Given the description of an element on the screen output the (x, y) to click on. 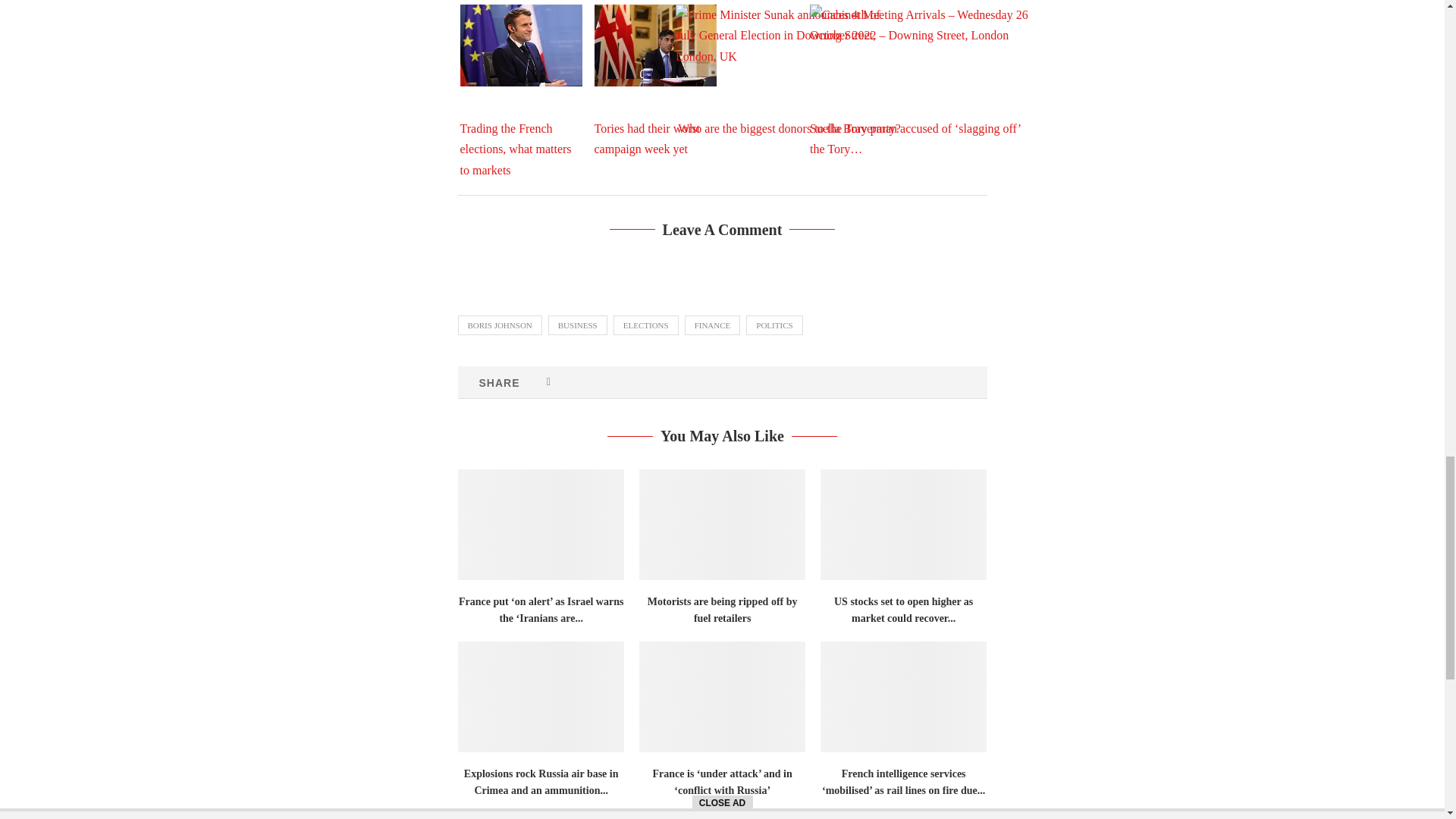
Who are the biggest donors to the Tory party? (560, 80)
Tories had their worst campaign week yet (426, 80)
Trading the French elections, what matters to markets (292, 80)
Motorists are being ripped off by fuel retailers (493, 503)
